Given the description of an element on the screen output the (x, y) to click on. 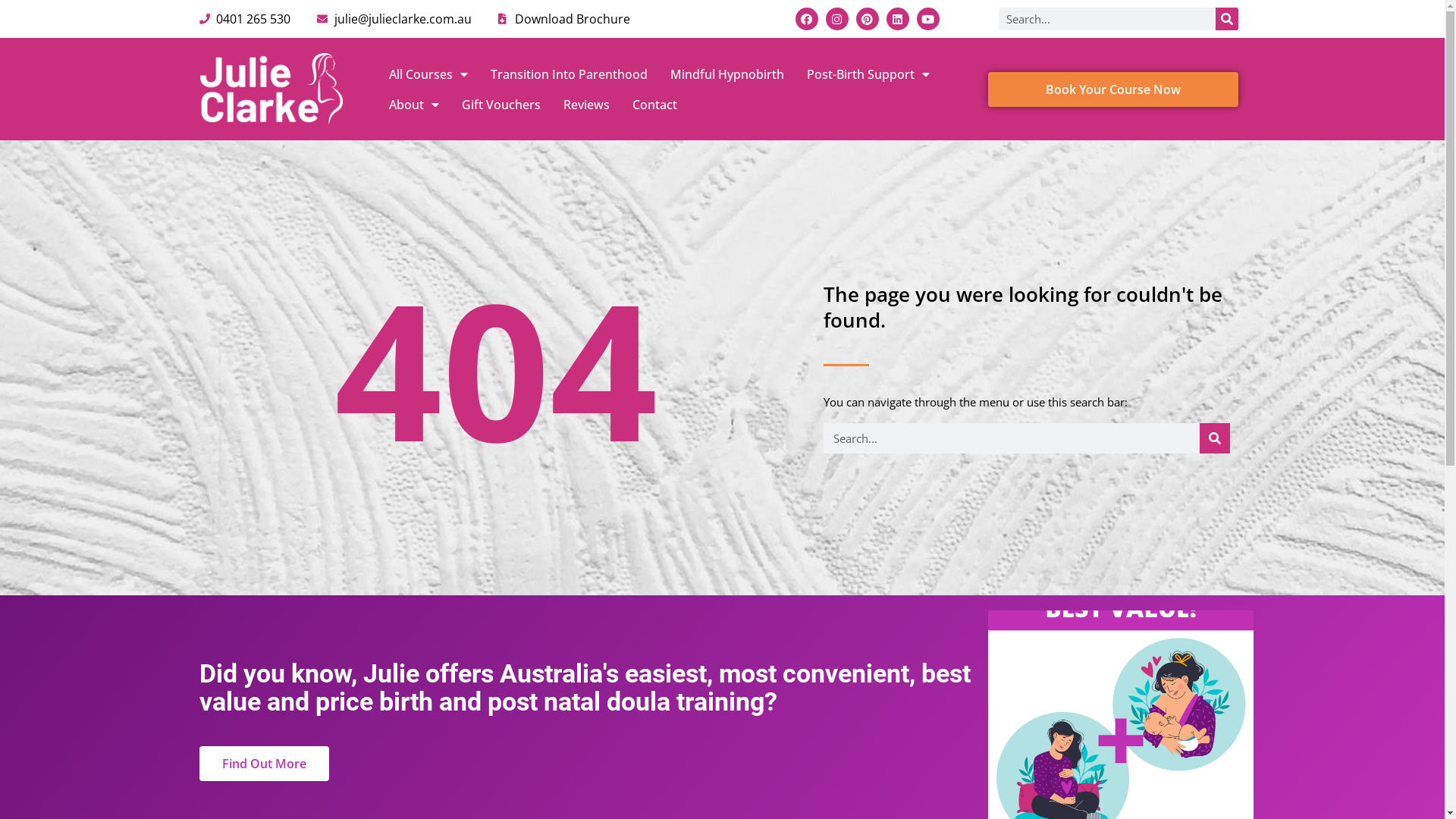
All Courses Element type: text (428, 74)
julie@julieclarke.com.au Element type: text (393, 18)
About Element type: text (413, 104)
Book Your Course Now Element type: text (1113, 88)
Find Out More Element type: text (263, 763)
Download Brochure Element type: text (563, 18)
0401 265 530 Element type: text (244, 18)
Mindful Hypnobirth Element type: text (726, 74)
Transition Into Parenthood Element type: text (568, 74)
Reviews Element type: text (586, 104)
Contact Element type: text (653, 104)
Gift Vouchers Element type: text (501, 104)
Post-Birth Support Element type: text (867, 74)
